Given the description of an element on the screen output the (x, y) to click on. 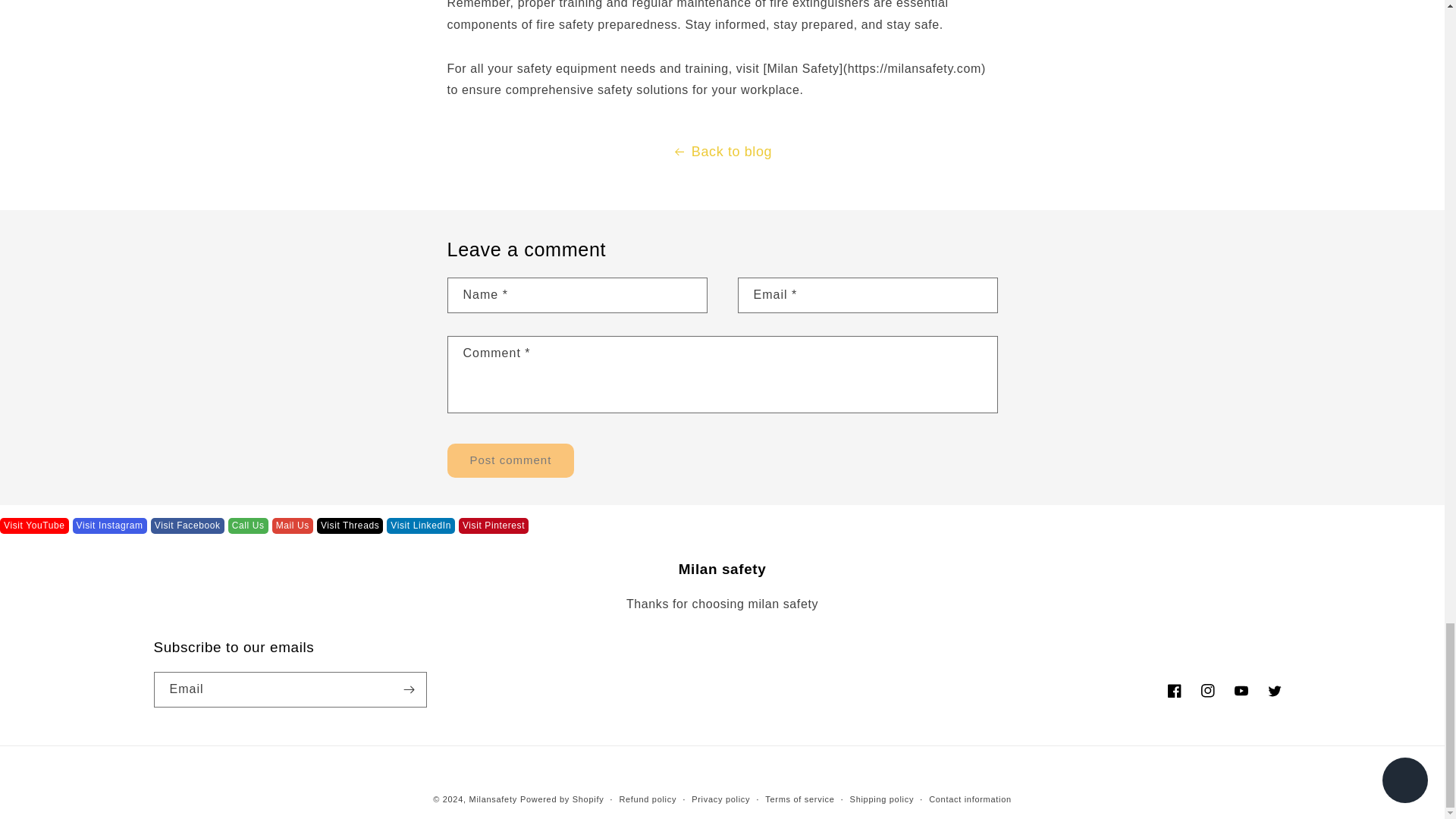
Post comment (510, 460)
